Given the description of an element on the screen output the (x, y) to click on. 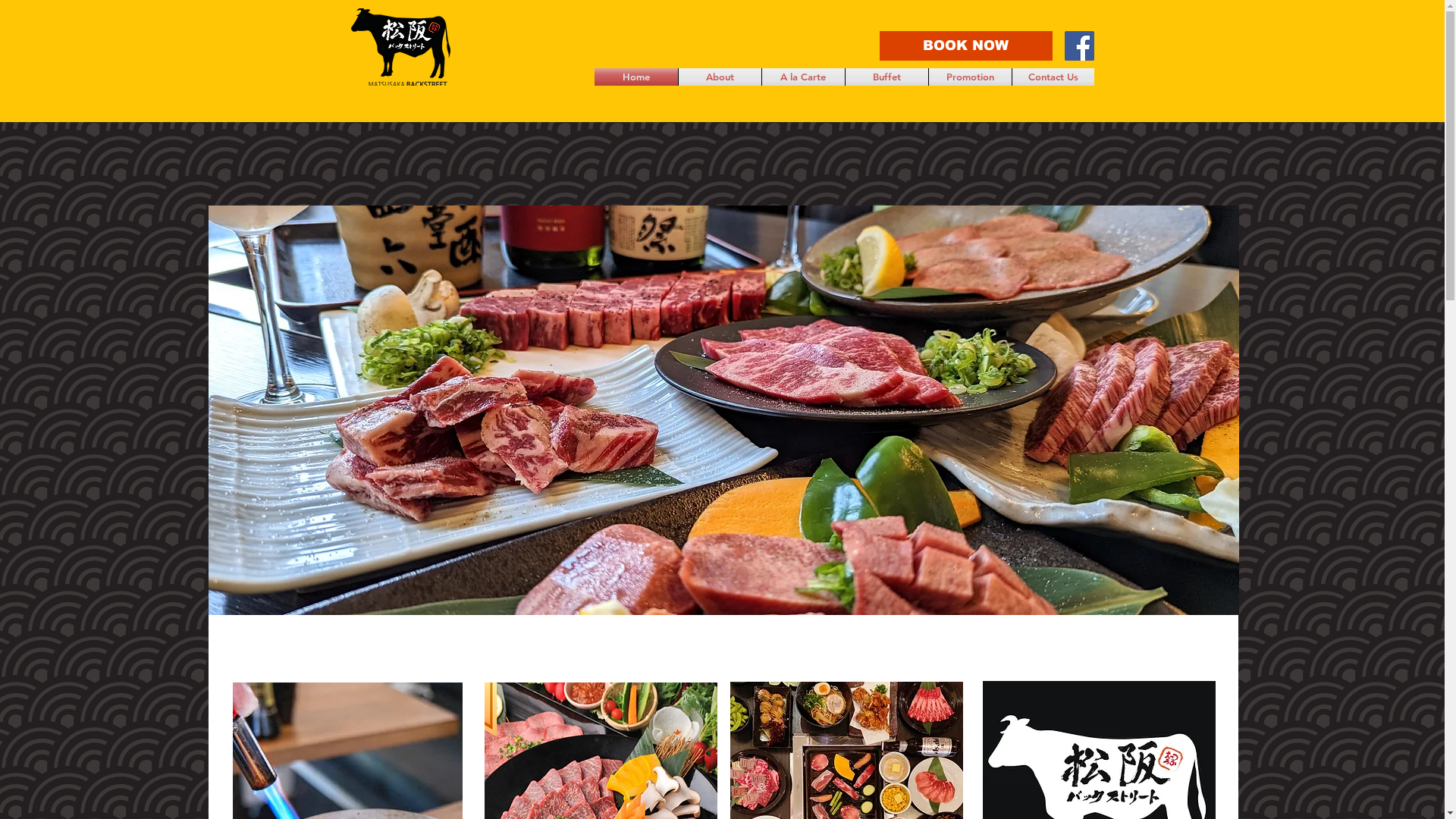
Home Element type: text (635, 76)
Contact Us Element type: text (1052, 76)
Promotion Element type: text (969, 76)
About Element type: text (718, 76)
A la Carte Element type: text (802, 76)
BOOK NOW Element type: text (965, 45)
Buffet Element type: text (885, 76)
